Given the description of an element on the screen output the (x, y) to click on. 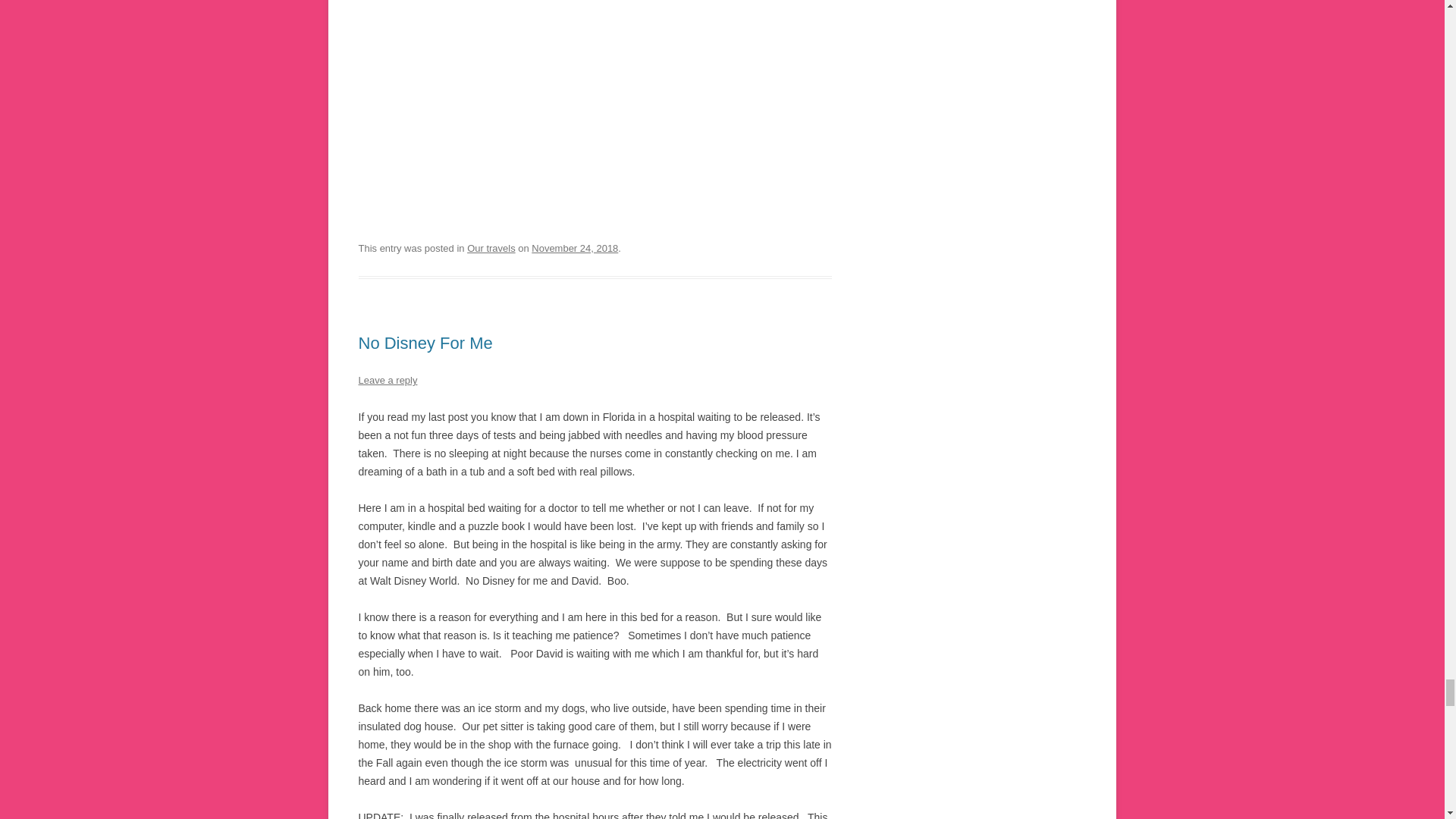
6:19 pm (574, 247)
